Given the description of an element on the screen output the (x, y) to click on. 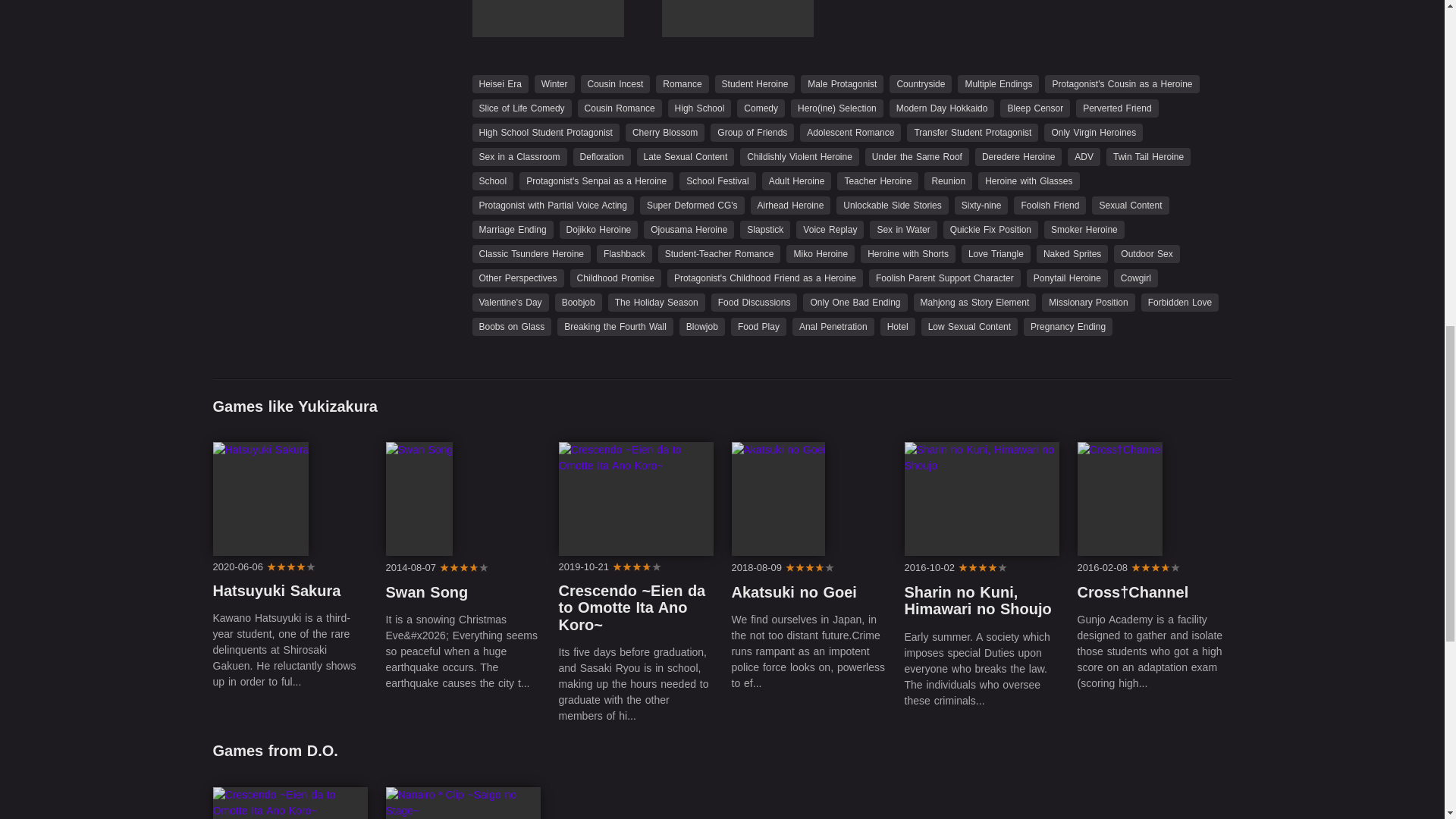
Protagonist's Cousin as a Heroine (1121, 83)
Student Heroine (754, 83)
Cousin Romance (620, 107)
Heisei Era (499, 83)
High School (700, 107)
Winter (554, 83)
Comedy (760, 107)
Multiple Endings (998, 83)
Countryside (920, 83)
Slice of Life Comedy (520, 107)
Yukizakura screenshot (736, 18)
Romance (681, 83)
Male Protagonist (841, 83)
Yukizakura screenshot (547, 18)
Cousin Incest (615, 83)
